Given the description of an element on the screen output the (x, y) to click on. 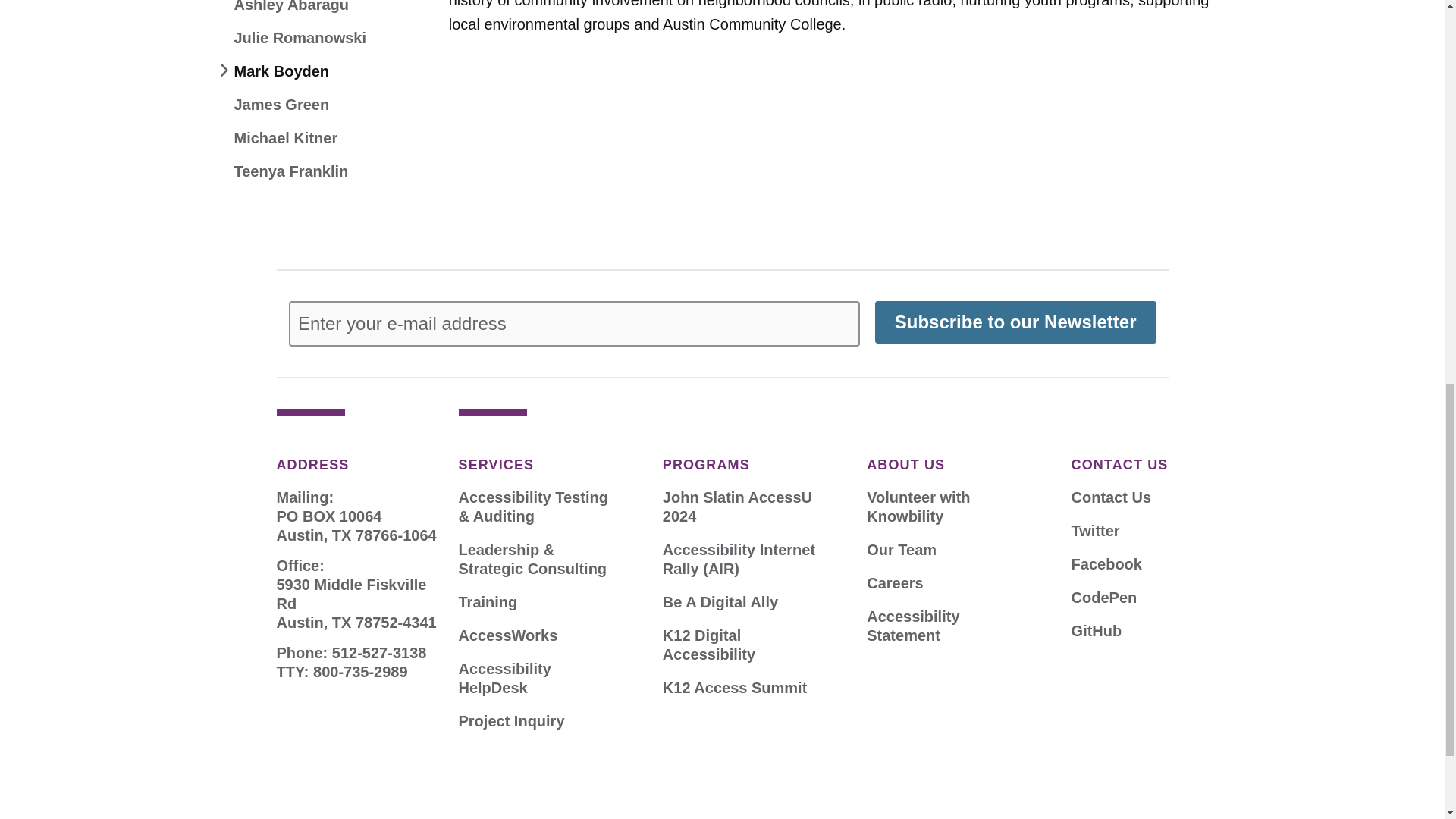
Ashley Abaragu (290, 7)
K12 Digital Accessibility (744, 645)
Mark Boyden (280, 71)
Teenya Franklin (289, 171)
Volunteer with Knowbility (948, 507)
John Slatin AccessU 2024 (744, 507)
Subscribe to our Newsletter (1015, 322)
Project Inquiry (511, 721)
Be A Digital Ally (719, 601)
James Green (280, 104)
